Given the description of an element on the screen output the (x, y) to click on. 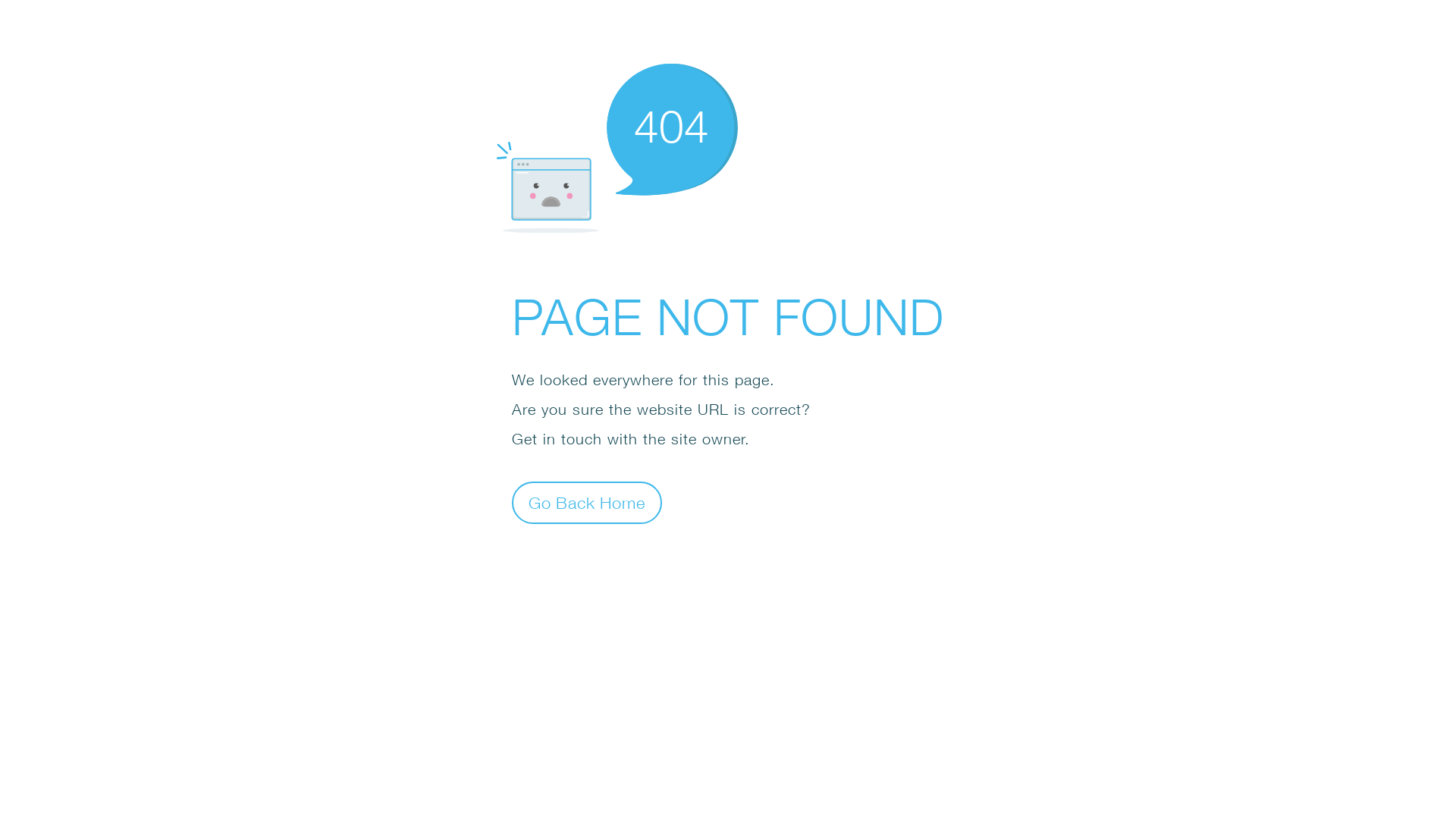
Go Back Home Element type: text (586, 502)
